Given the description of an element on the screen output the (x, y) to click on. 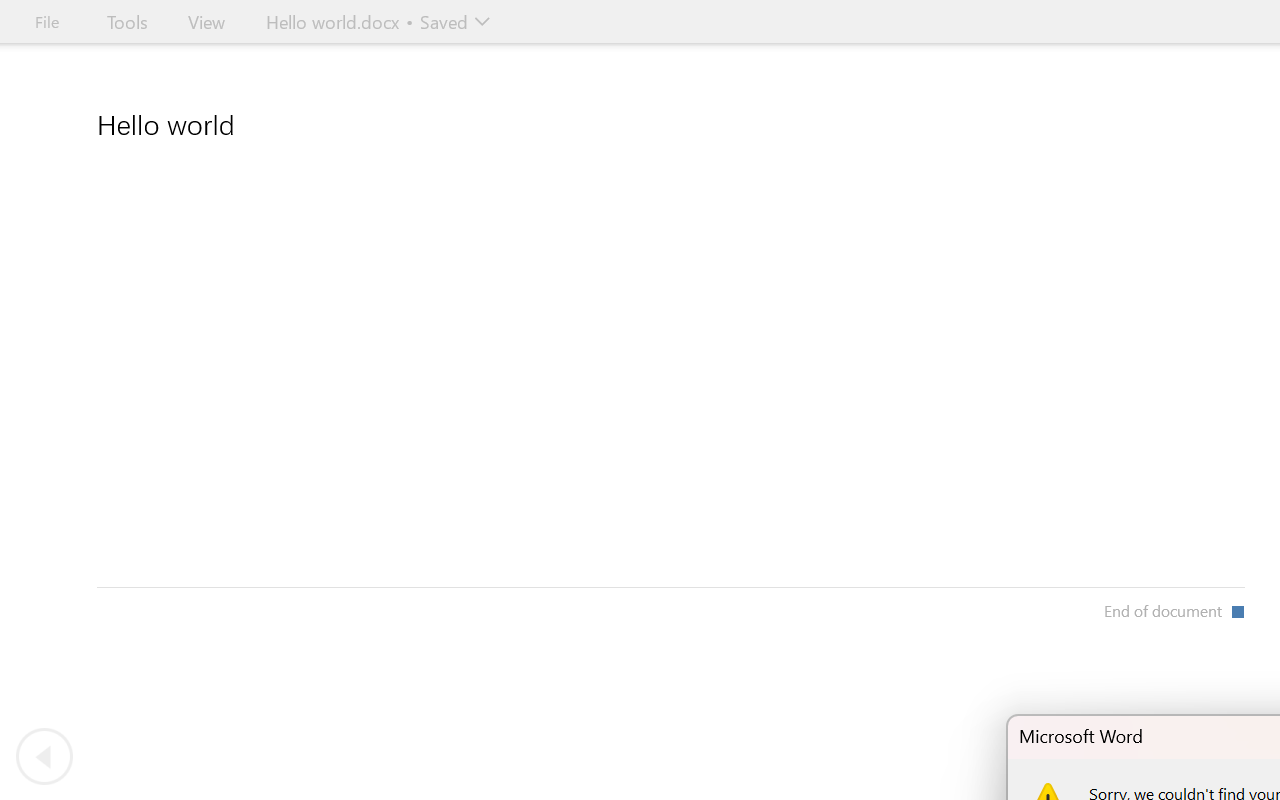
File Tab (46, 21)
Tools (127, 21)
View (205, 21)
